Given the description of an element on the screen output the (x, y) to click on. 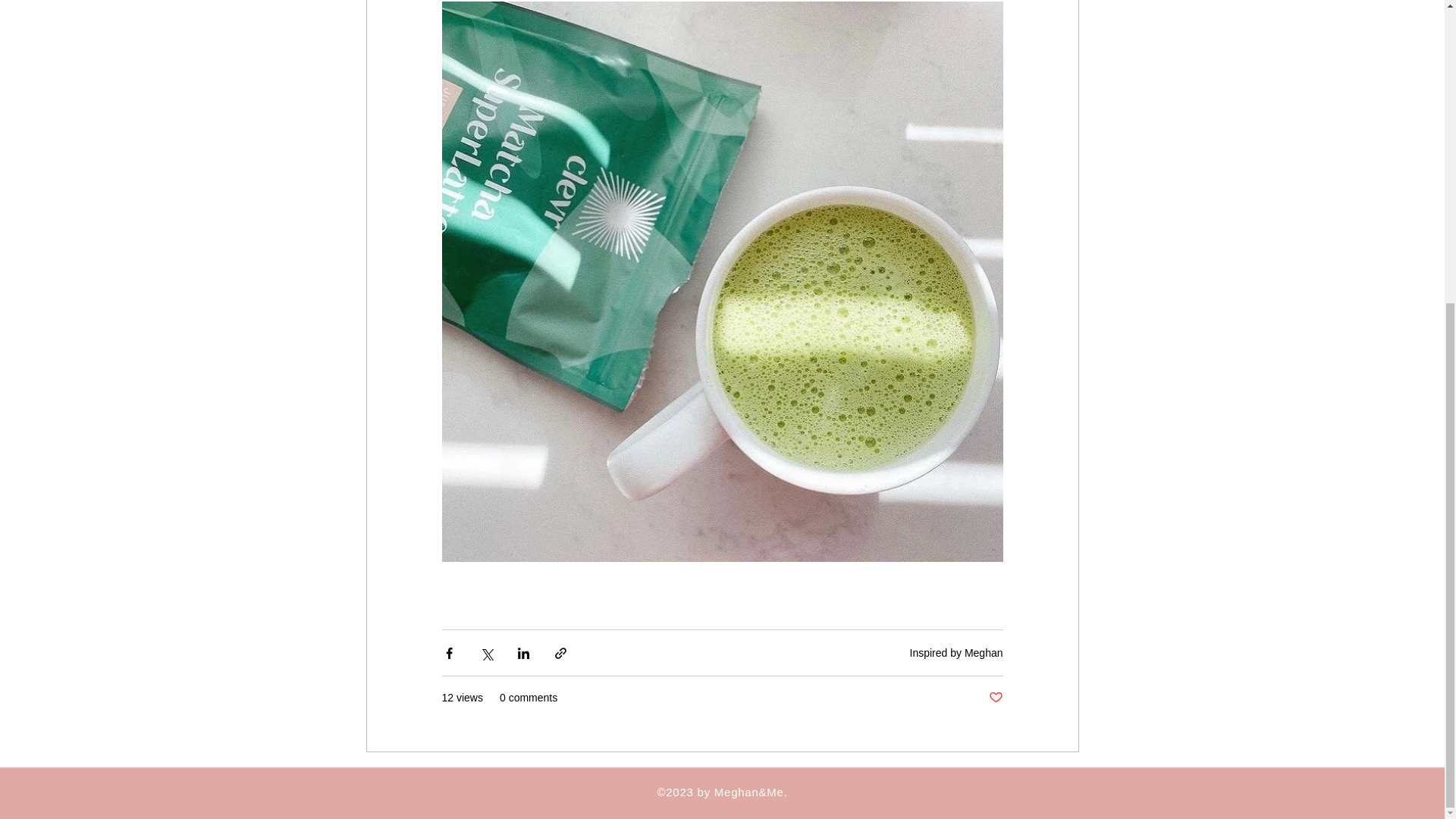
Inspired by Meghan (956, 653)
Post not marked as liked (995, 697)
